Given the description of an element on the screen output the (x, y) to click on. 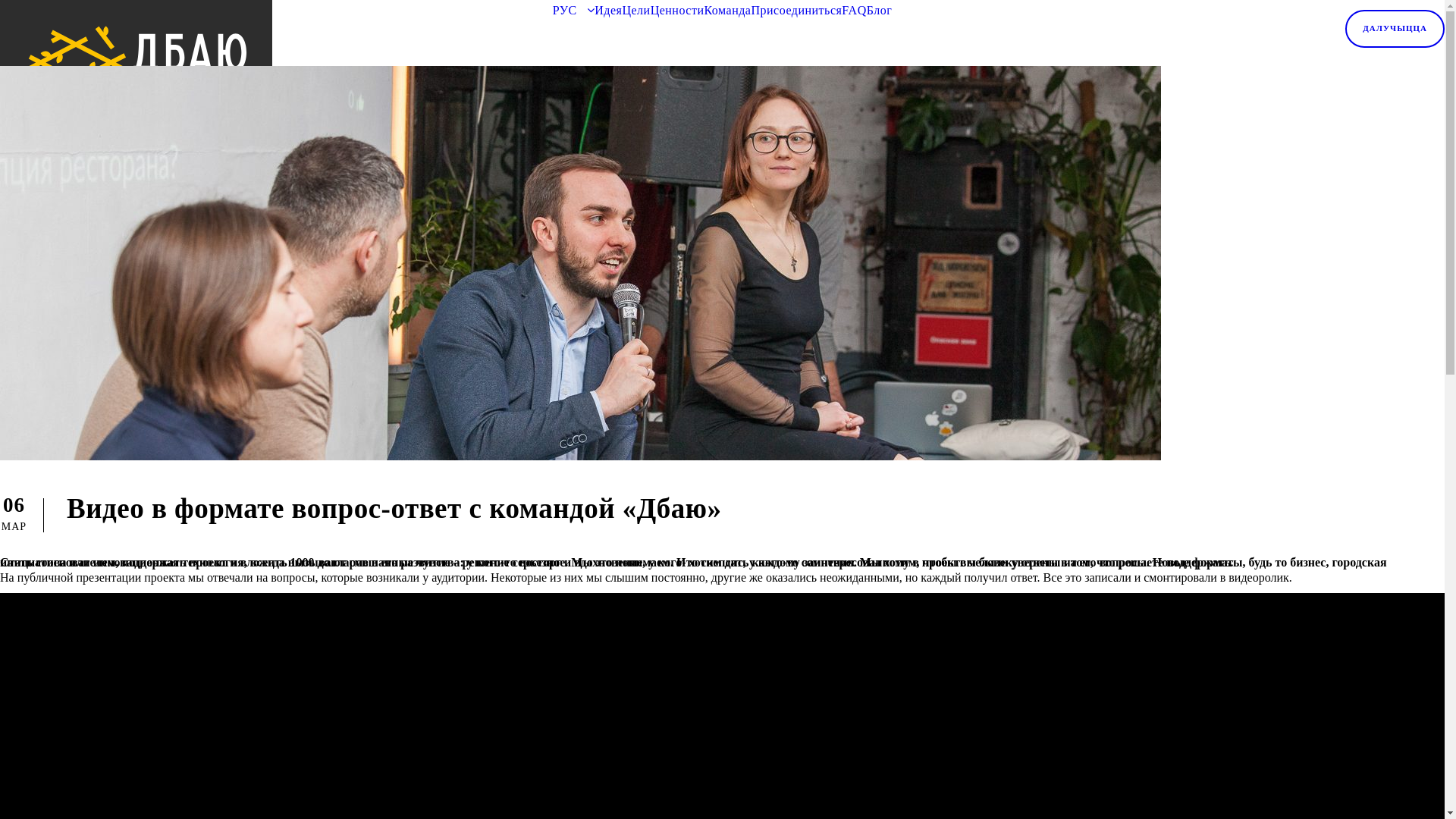
FAQ Element type: text (853, 10)
dbajy_team Element type: hover (580, 262)
